Given the description of an element on the screen output the (x, y) to click on. 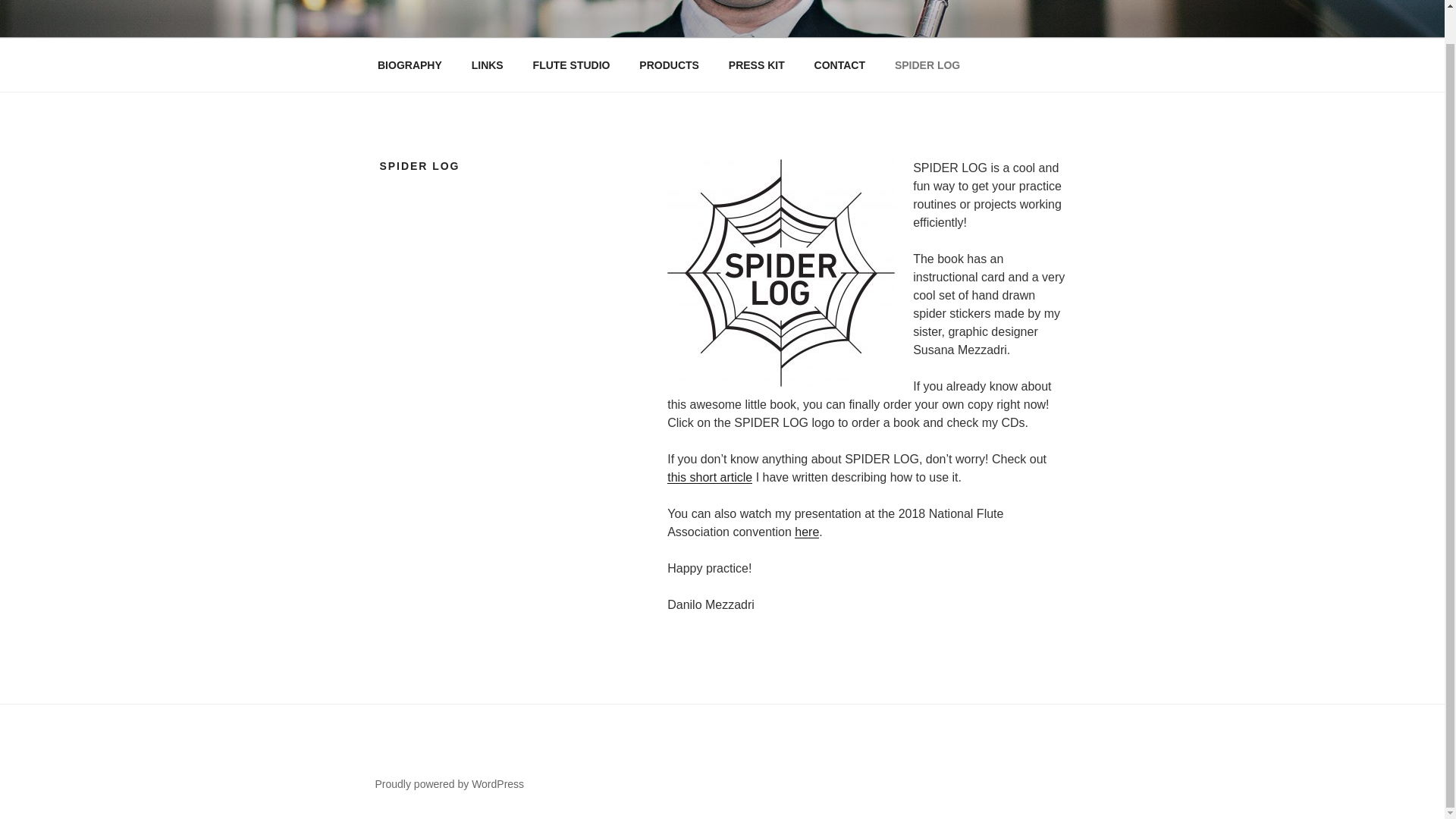
CONTACT (838, 65)
BIOGRAPHY (409, 65)
PRODUCTS (669, 65)
FLUTE STUDIO (571, 65)
here (806, 531)
LINKS (487, 65)
this short article (709, 477)
SPIDER LOG (926, 65)
Proudly powered by WordPress (449, 784)
PRESS KIT (755, 65)
